Given the description of an element on the screen output the (x, y) to click on. 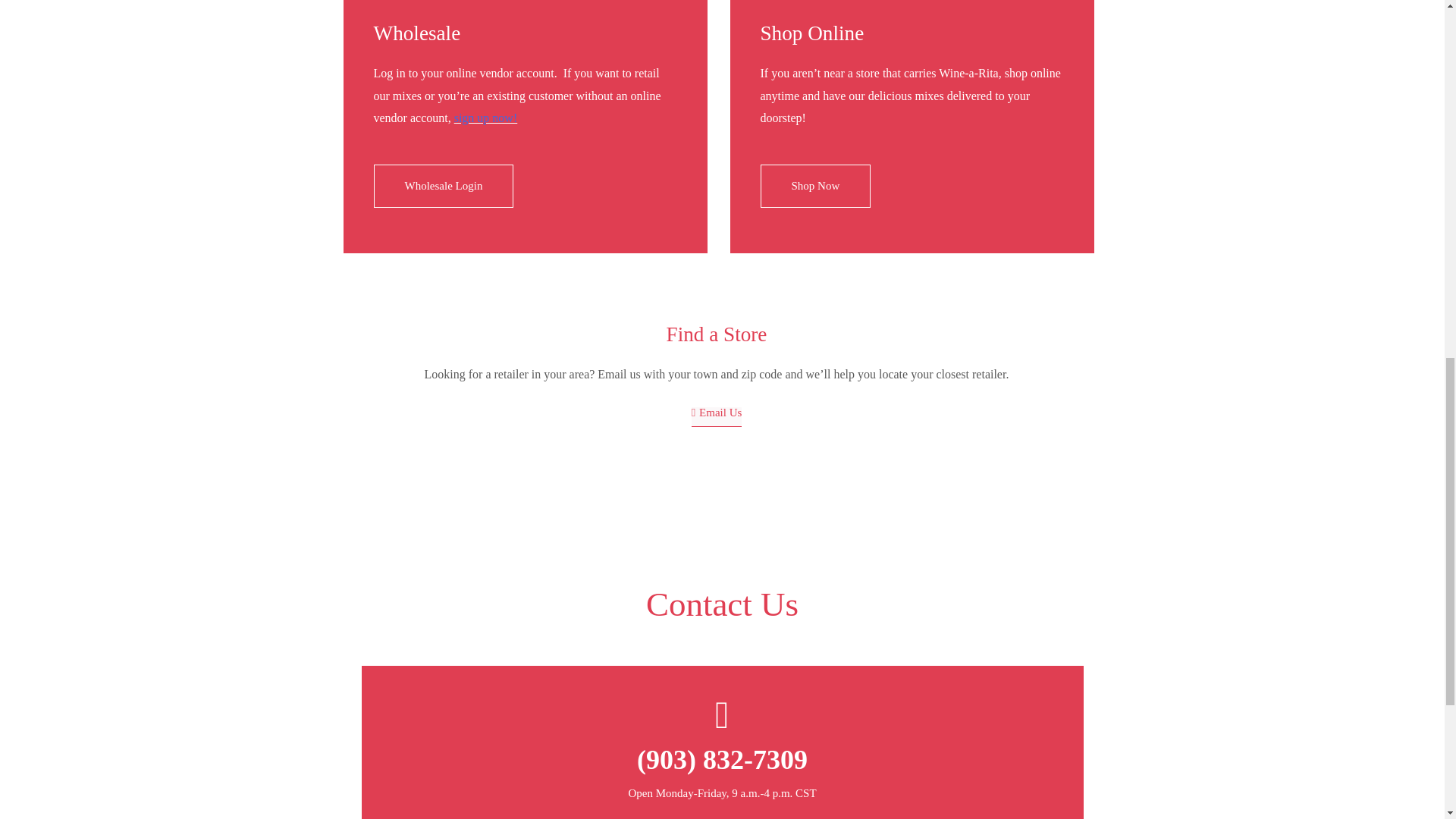
sign up now! (486, 117)
Wholesale Login (442, 186)
Email Us (716, 416)
Shop Now (815, 186)
